Given the description of an element on the screen output the (x, y) to click on. 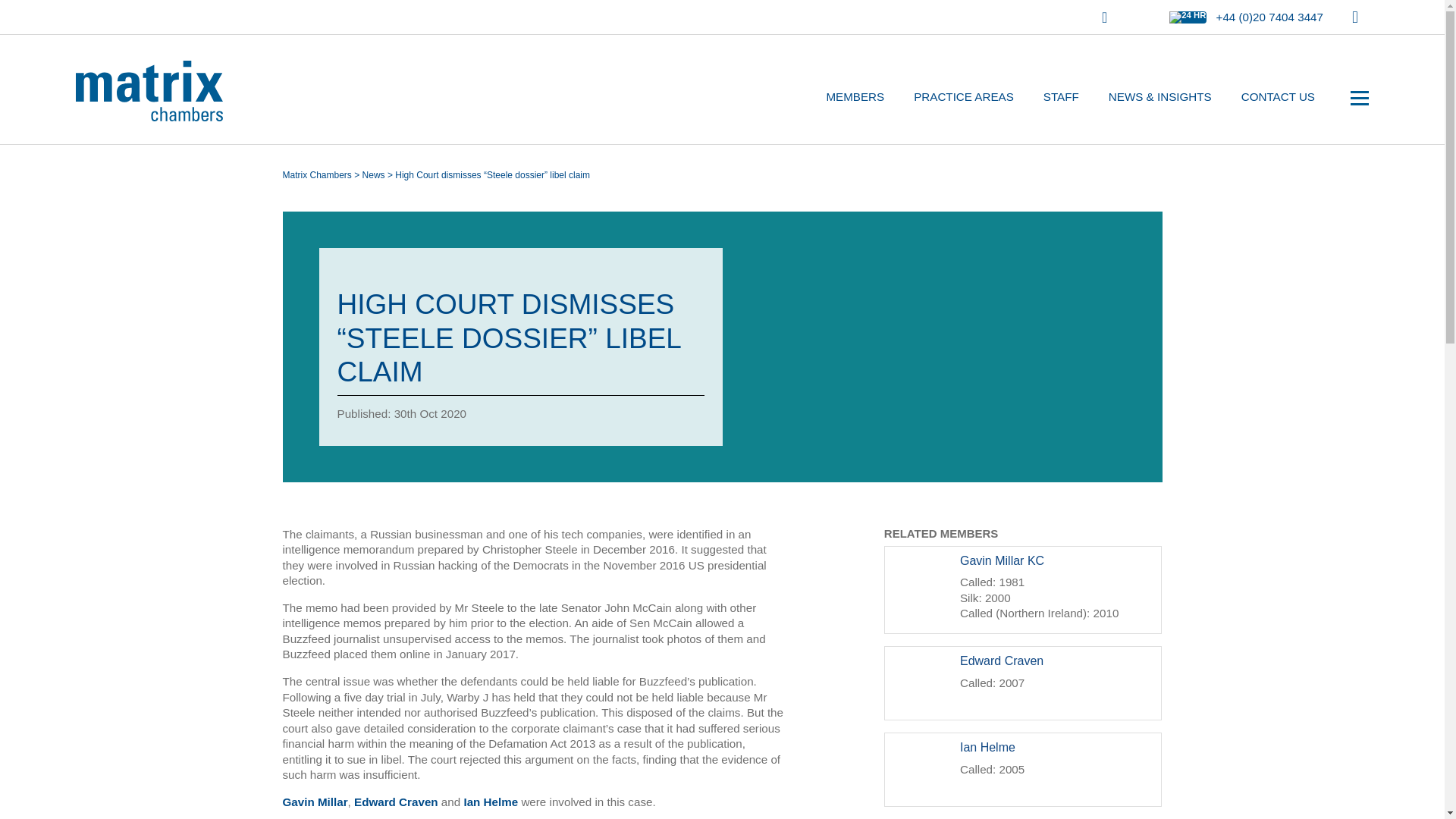
MEMBERS (854, 97)
Go to Matrix Chambers. (316, 174)
STAFF (1061, 97)
Go to News. (373, 174)
CONTACT US (1277, 97)
PRACTICE AREAS (963, 97)
